Given the description of an element on the screen output the (x, y) to click on. 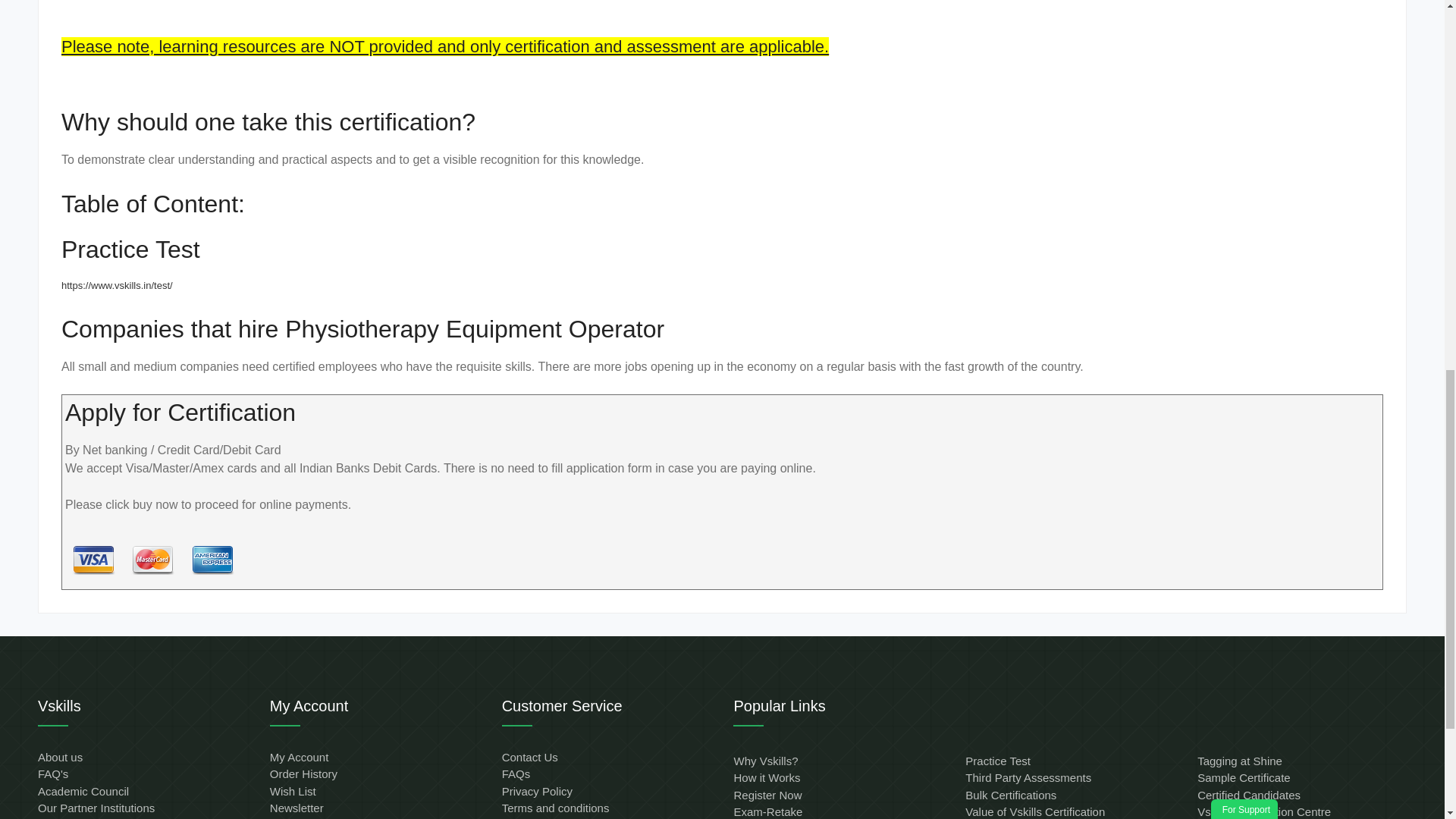
Visa Card (92, 560)
Bulk Certifications for institutes and companies (1011, 794)
Master Card (152, 560)
American Express (211, 560)
